Given the description of an element on the screen output the (x, y) to click on. 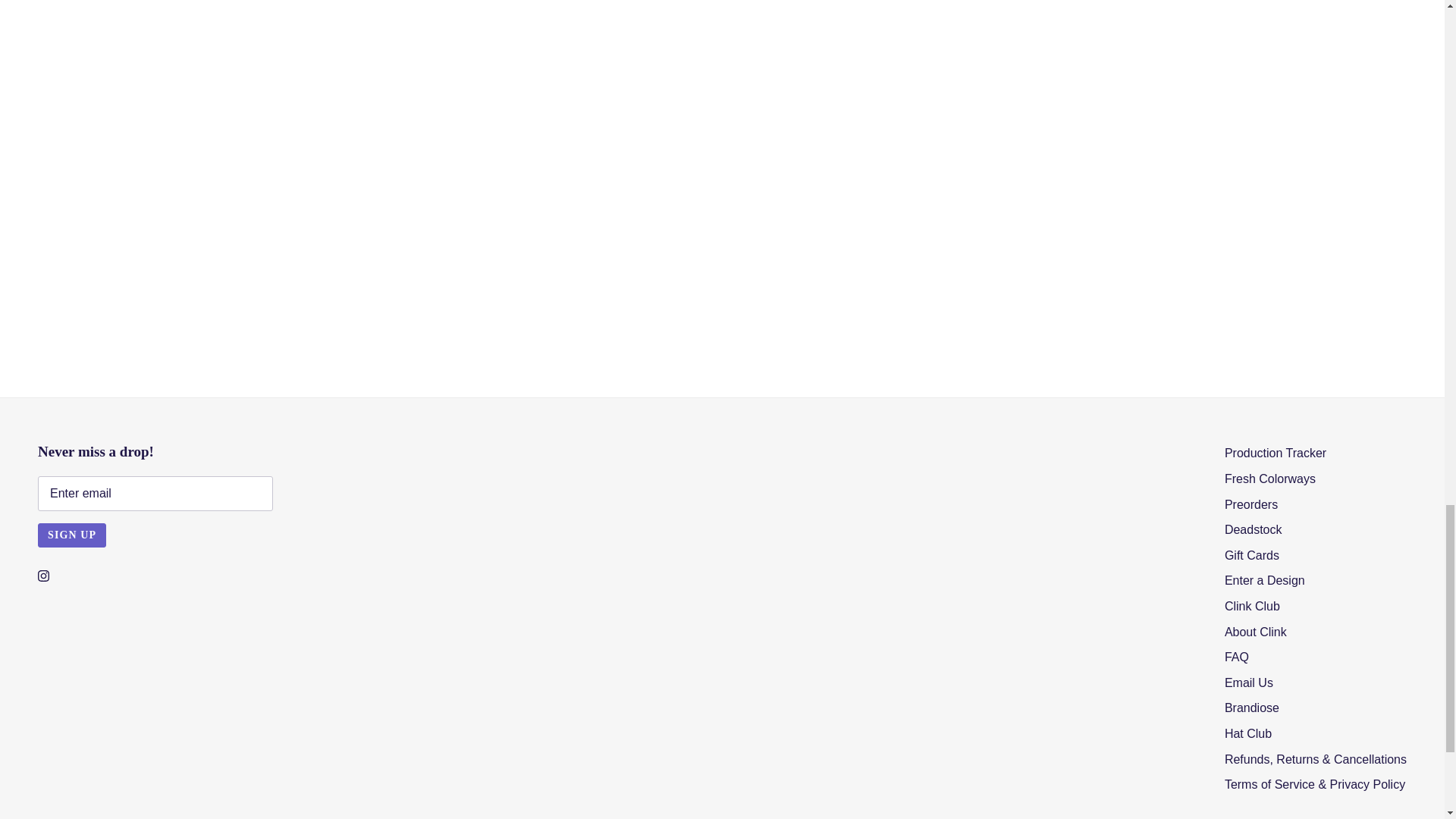
SIGN UP (71, 535)
Fresh Colorways (1270, 478)
Instagram (43, 575)
Deadstock (1253, 529)
Preorders (1251, 504)
Production Tracker (1275, 452)
Instagram (43, 575)
